Given the description of an element on the screen output the (x, y) to click on. 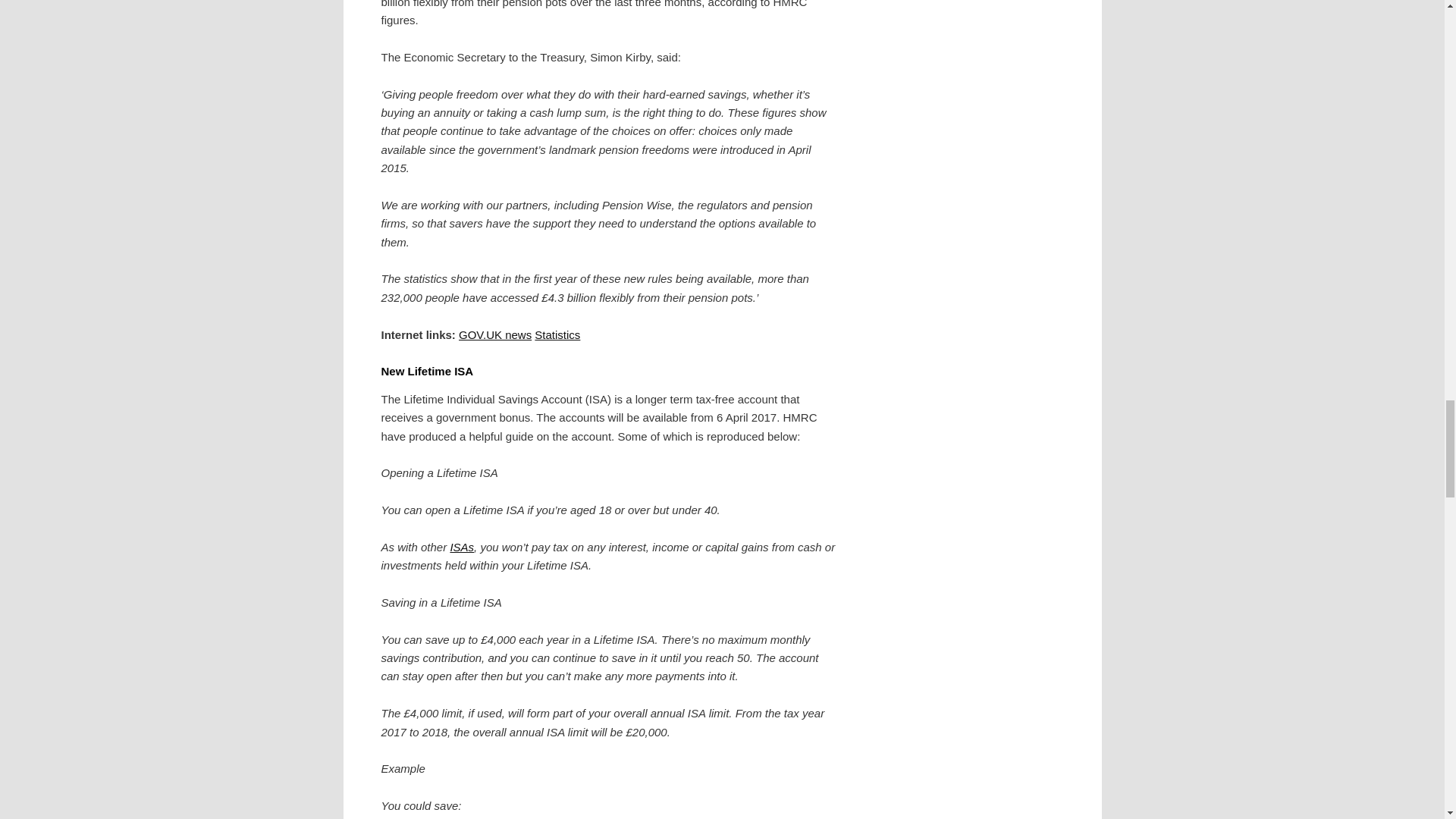
GOV.UK news (494, 333)
Statistics (556, 333)
ISAs (461, 546)
